Given the description of an element on the screen output the (x, y) to click on. 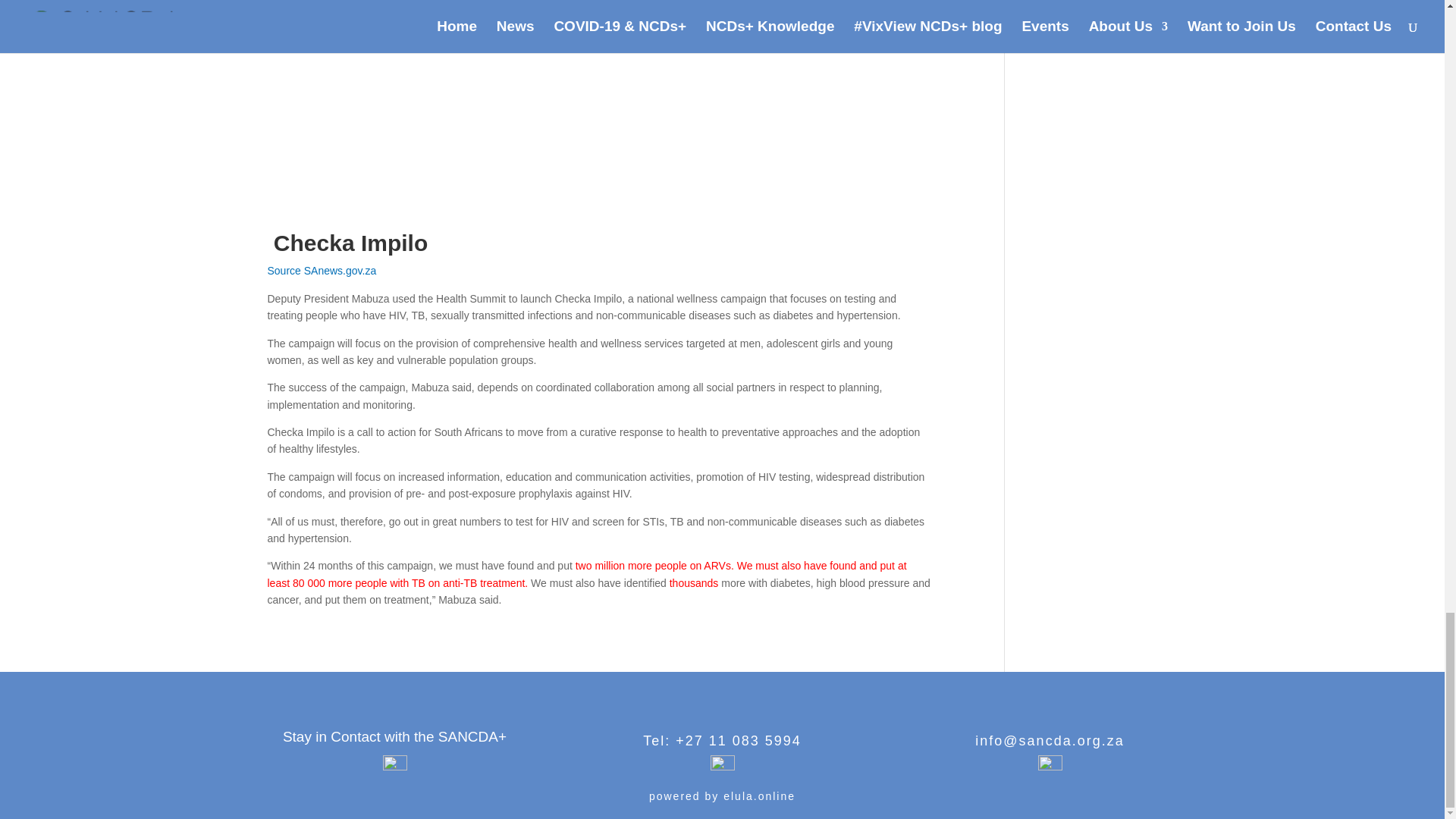
powered by elula.online (721, 796)
005-twitter (721, 767)
001-facebook (1048, 767)
004-linkedin-1 (393, 767)
Source SAnews.gov.za (320, 270)
